Given the description of an element on the screen output the (x, y) to click on. 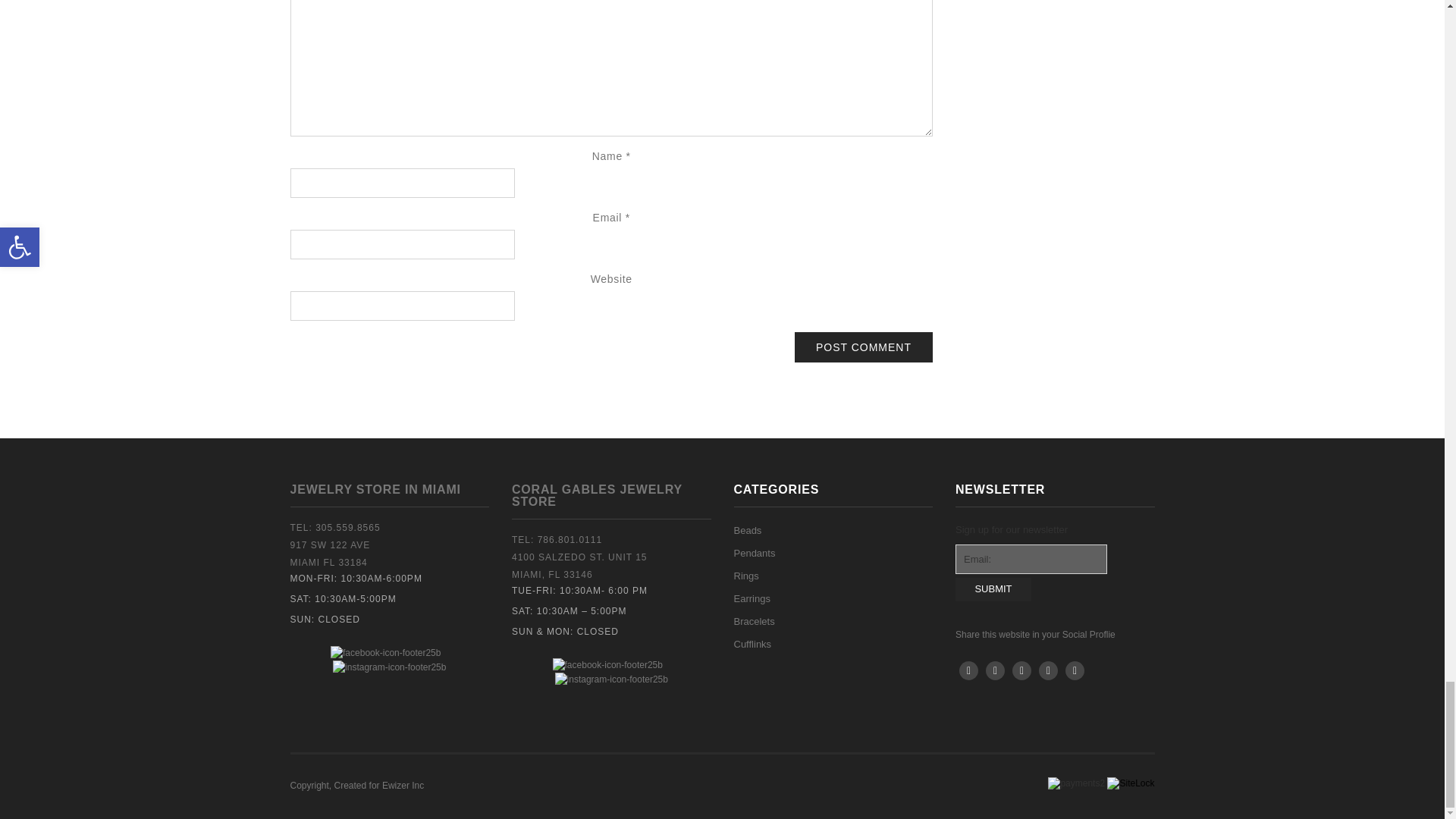
Email: (1030, 559)
Post Comment (863, 347)
Submit (992, 589)
